Given the description of an element on the screen output the (x, y) to click on. 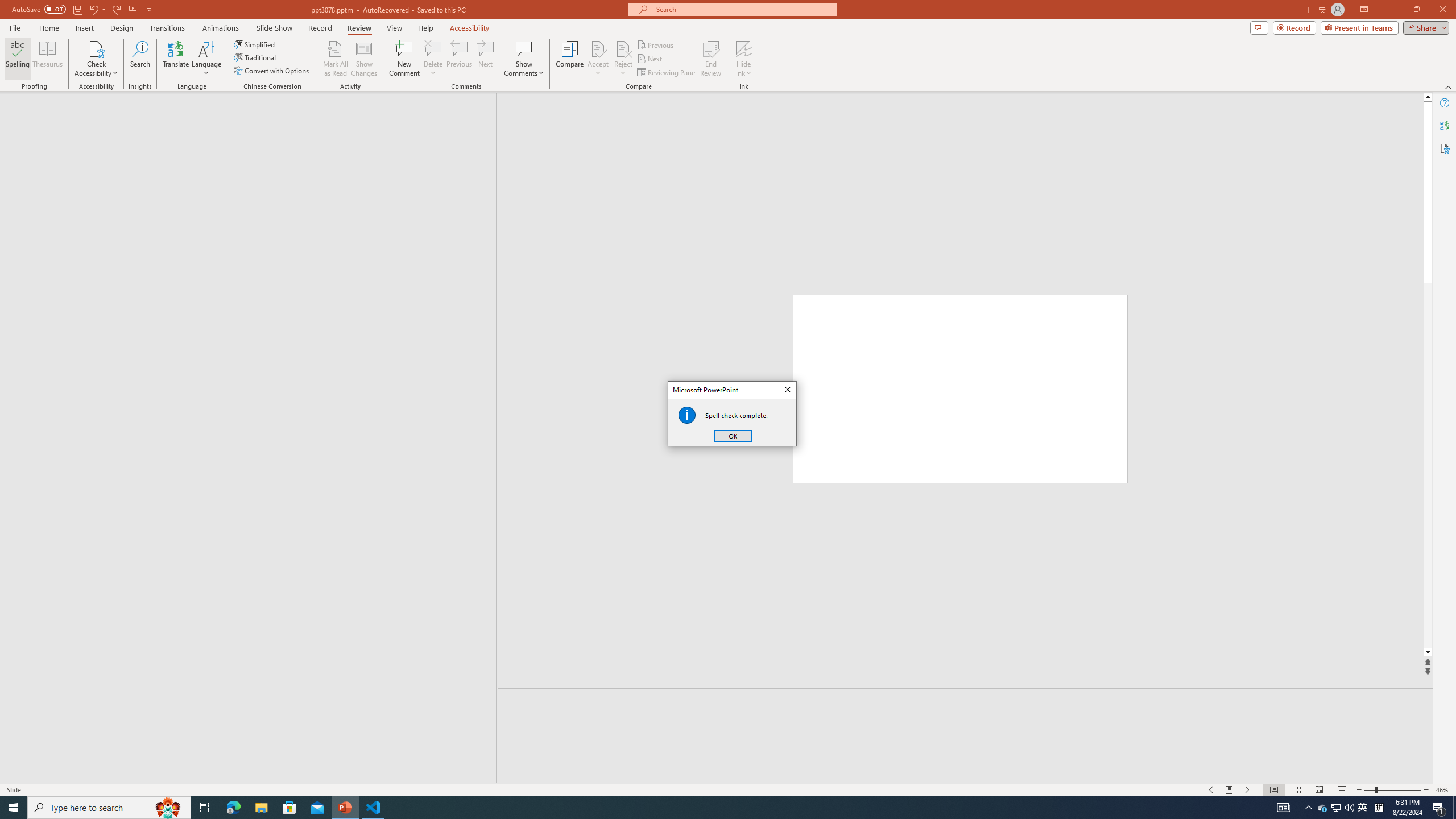
Transitions (1335, 807)
Hide Ink (167, 28)
Compare (743, 48)
Ribbon Display Options (569, 58)
Translate (1362, 807)
From Beginning (1364, 9)
Notification Chevron (175, 58)
Menu On (133, 9)
Zoom Out (1308, 807)
Collapse the Ribbon (1229, 790)
